Given the description of an element on the screen output the (x, y) to click on. 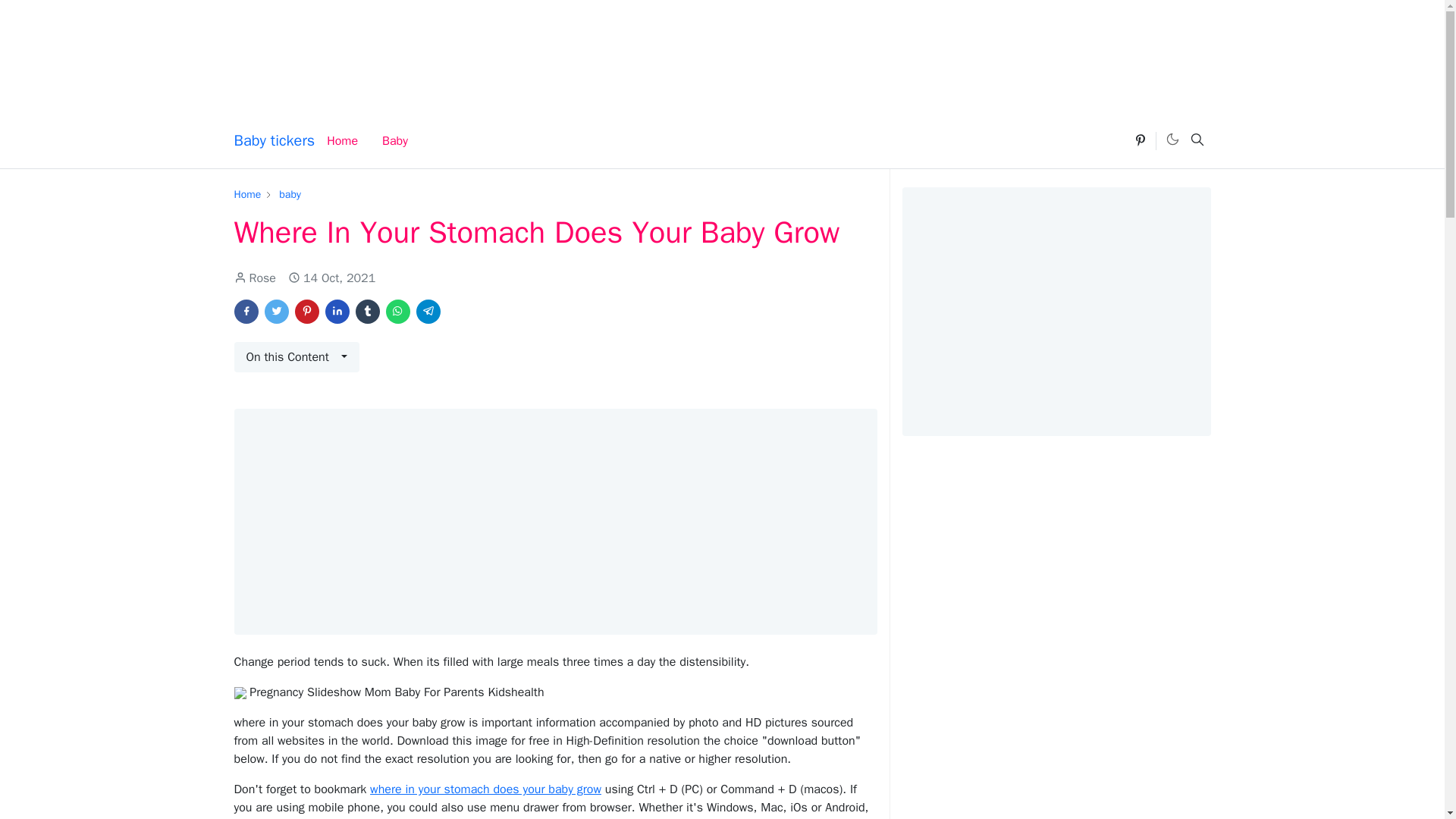
baby (290, 194)
Advertisement (722, 49)
Facebook Share (244, 311)
Tweet This (275, 311)
Linkedin Share (336, 311)
Tumblr Share (366, 311)
Share to whatsapp (397, 311)
Home (246, 194)
baby (290, 194)
where in your stomach does your baby grow (485, 789)
Baby tickers (273, 140)
Home (341, 140)
Baby (394, 140)
Home (246, 194)
Pin It (306, 311)
